Given the description of an element on the screen output the (x, y) to click on. 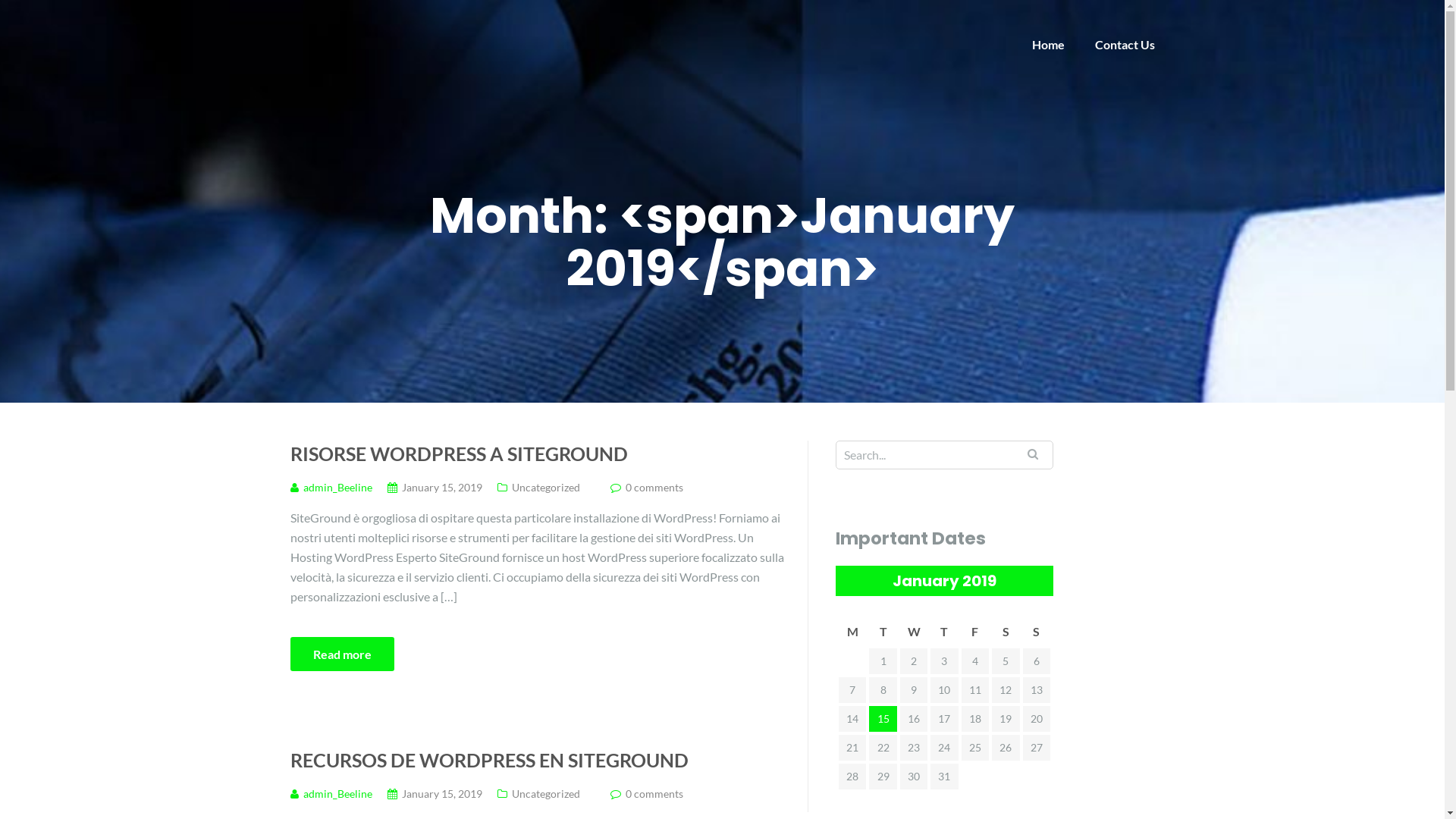
0 comments Element type: text (653, 793)
RECURSOS DE WORDPRESS EN SITEGROUND Element type: text (536, 759)
Contact Us Element type: text (1124, 44)
0 comments Element type: text (653, 486)
Read more Element type: text (341, 654)
Search for: Element type: hover (944, 454)
15 Element type: text (882, 718)
RISORSE WORDPRESS A SITEGROUND Element type: text (536, 453)
Home Element type: text (1047, 44)
